Given the description of an element on the screen output the (x, y) to click on. 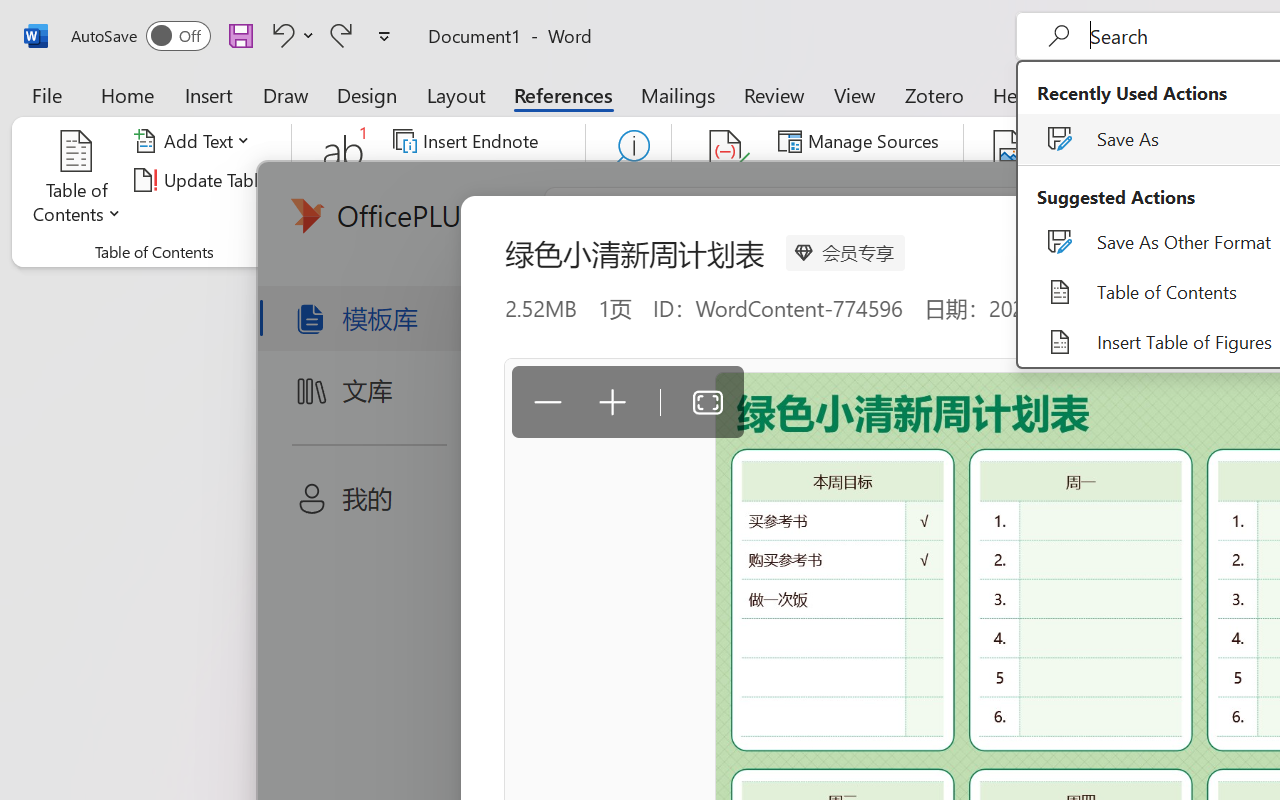
Insert Citation (726, 179)
Insert Table of Figures... (1158, 141)
Insert Footnote (344, 179)
Footnote and Endnote Dialog... (573, 252)
Insert Caption... (1009, 180)
Manage Sources... (861, 141)
Cross-reference... (1133, 218)
Style (901, 179)
